Given the description of an element on the screen output the (x, y) to click on. 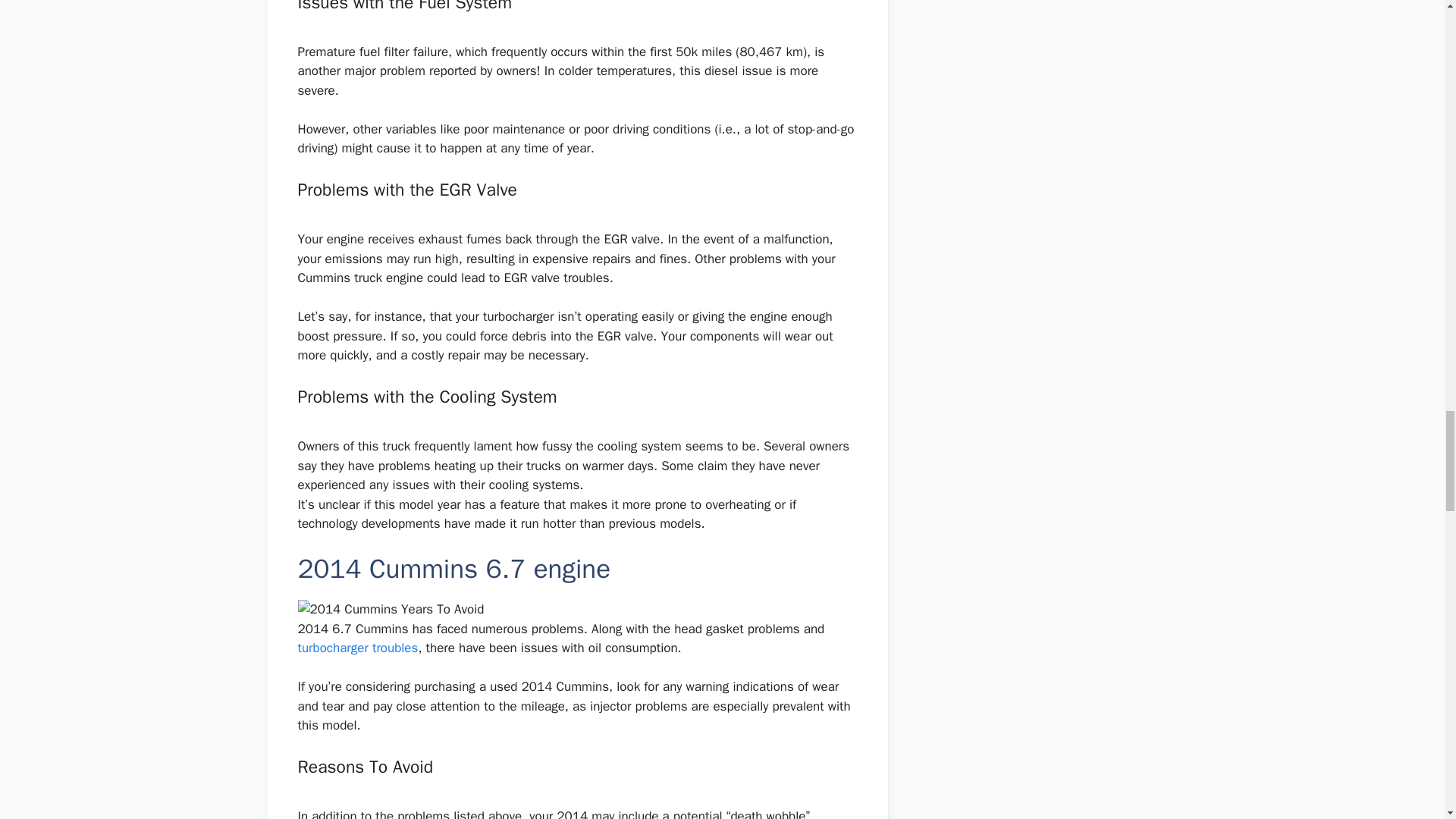
turbocharger troubles (357, 647)
